Given the description of an element on the screen output the (x, y) to click on. 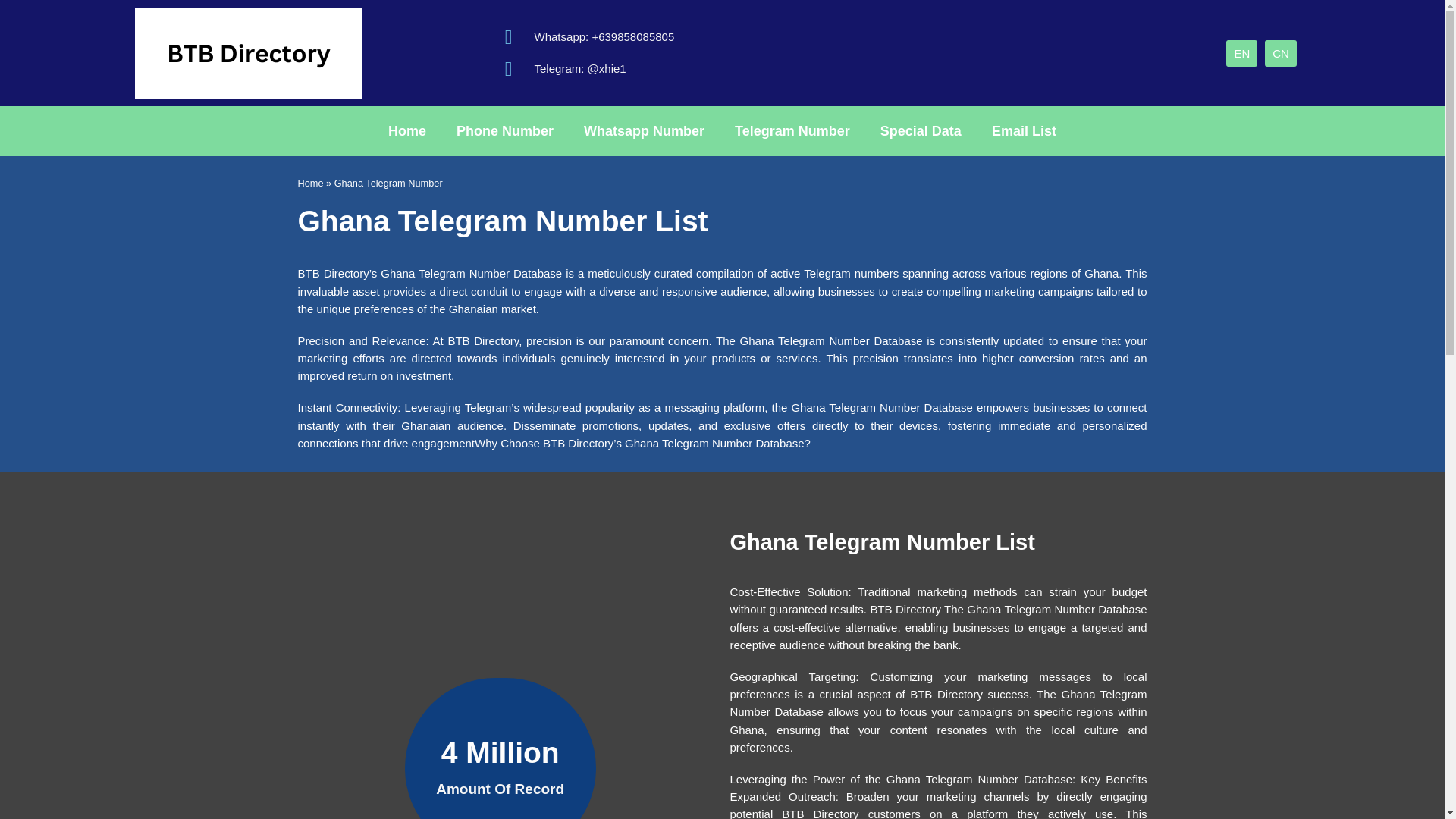
Whatsapp Number (644, 130)
Phone Number (505, 130)
Home (406, 130)
EN (1241, 52)
Telegram Number (791, 130)
Home (310, 183)
CN (1281, 52)
Special Data (920, 130)
Email List (1023, 130)
